Given the description of an element on the screen output the (x, y) to click on. 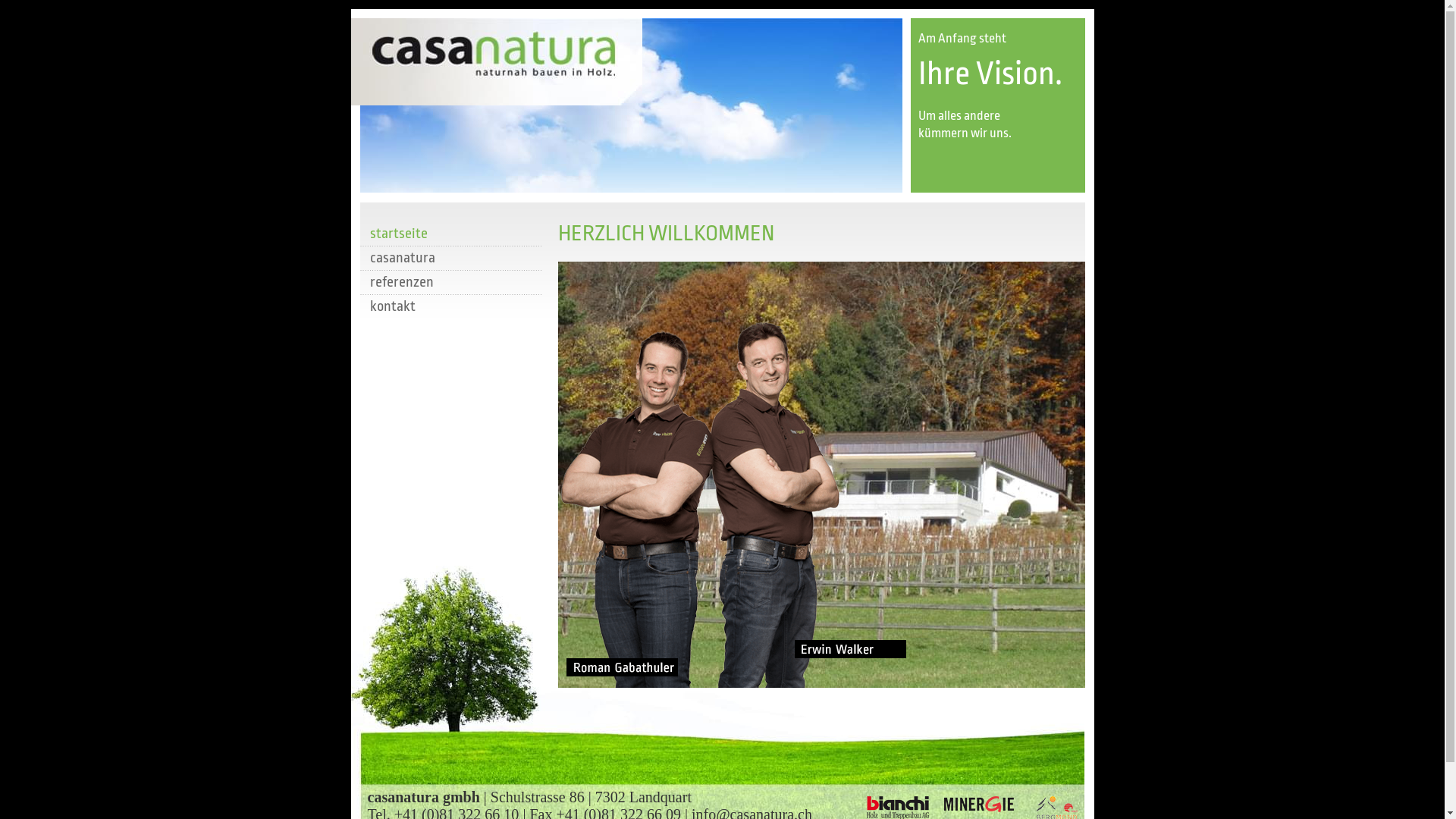
referenzen Element type: text (450, 281)
startseite Element type: text (450, 233)
casanatura Element type: text (450, 257)
kontakt Element type: text (450, 306)
